Given the description of an element on the screen output the (x, y) to click on. 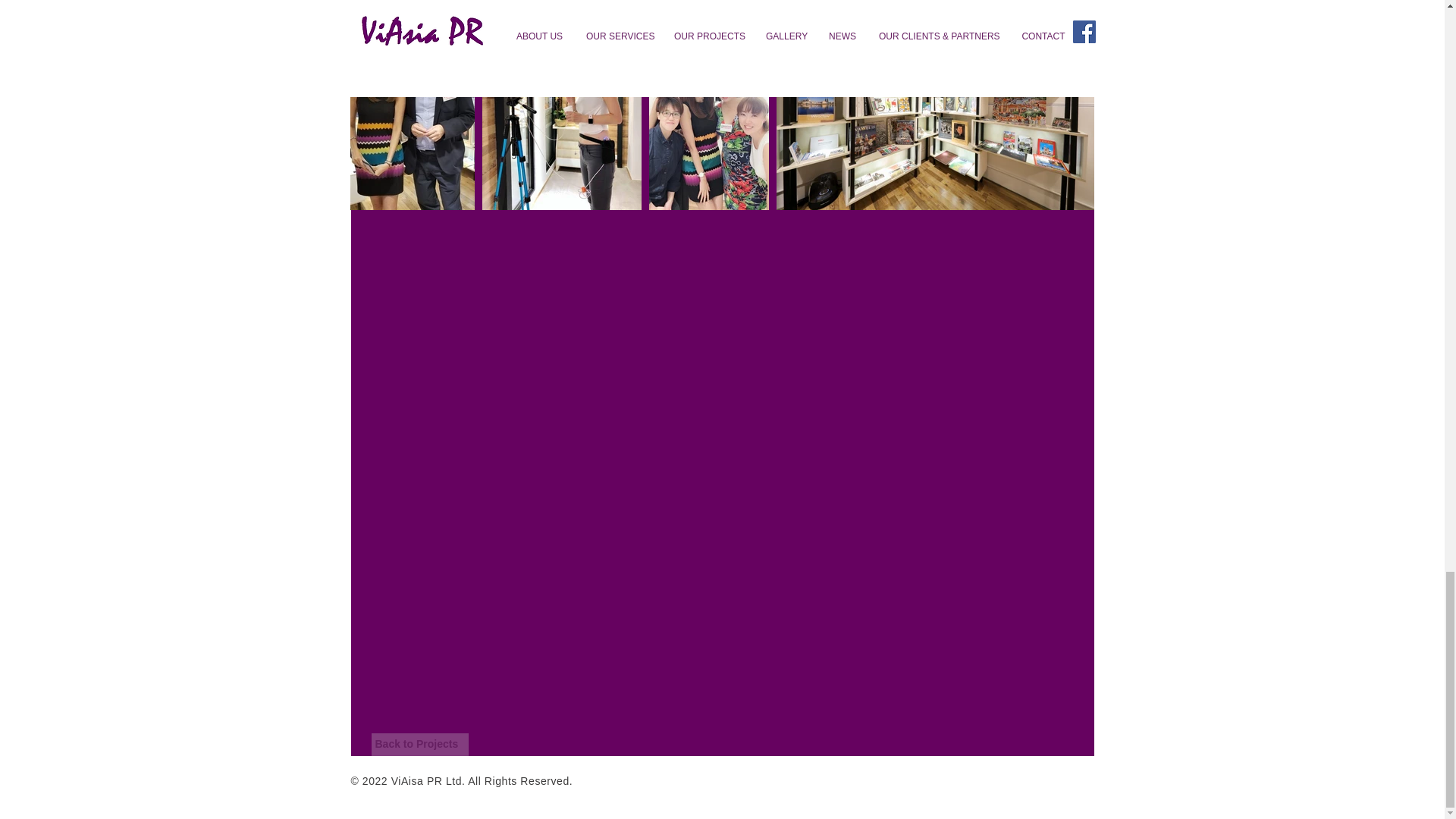
Back to Projects (419, 744)
